Given the description of an element on the screen output the (x, y) to click on. 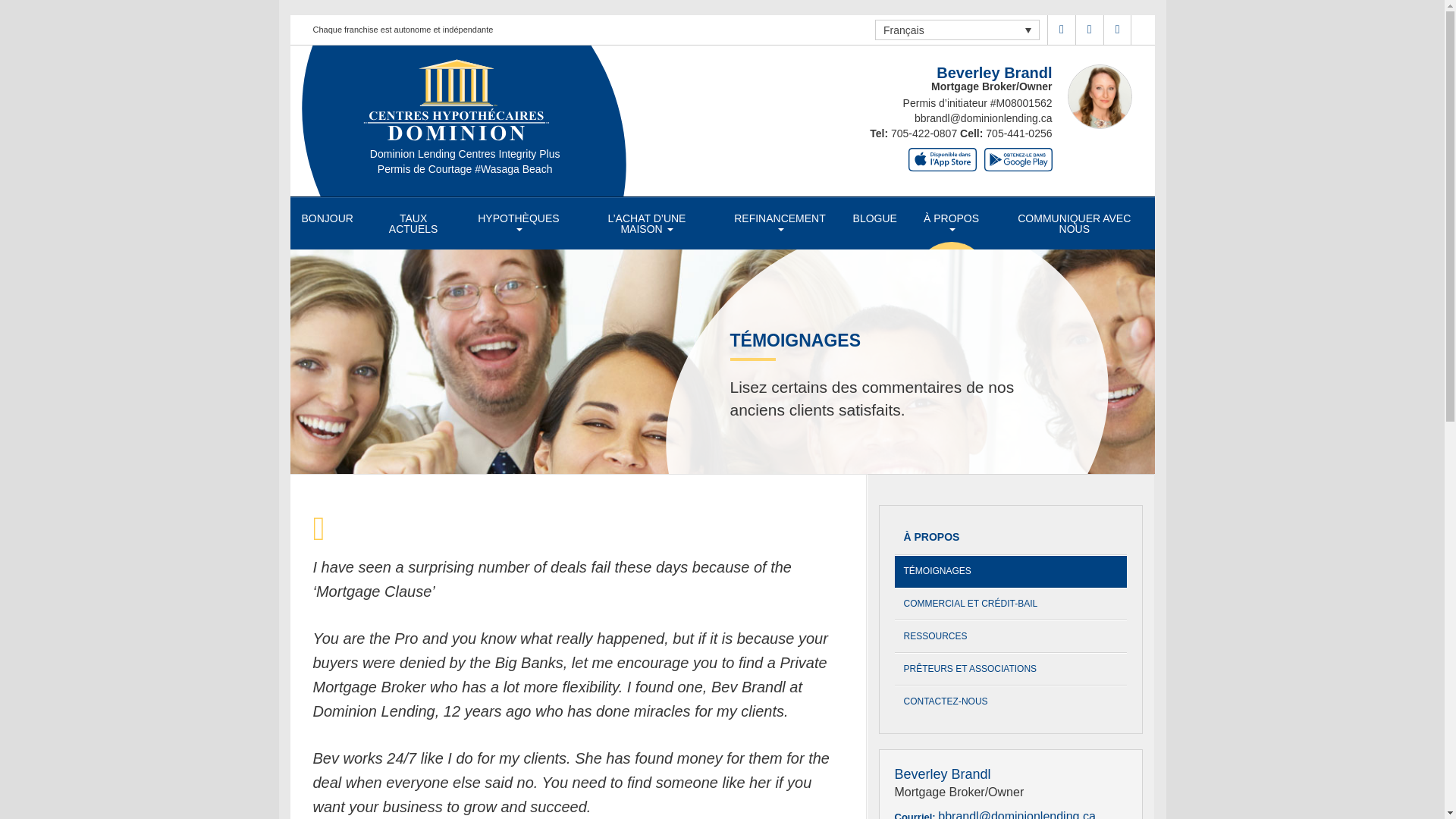
705-441-0256 (1018, 133)
BONJOUR (326, 218)
REFINANCEMENT (779, 223)
BLOGUE (874, 218)
TAUX ACTUELS (413, 223)
705-422-0807 (925, 133)
